Given the description of an element on the screen output the (x, y) to click on. 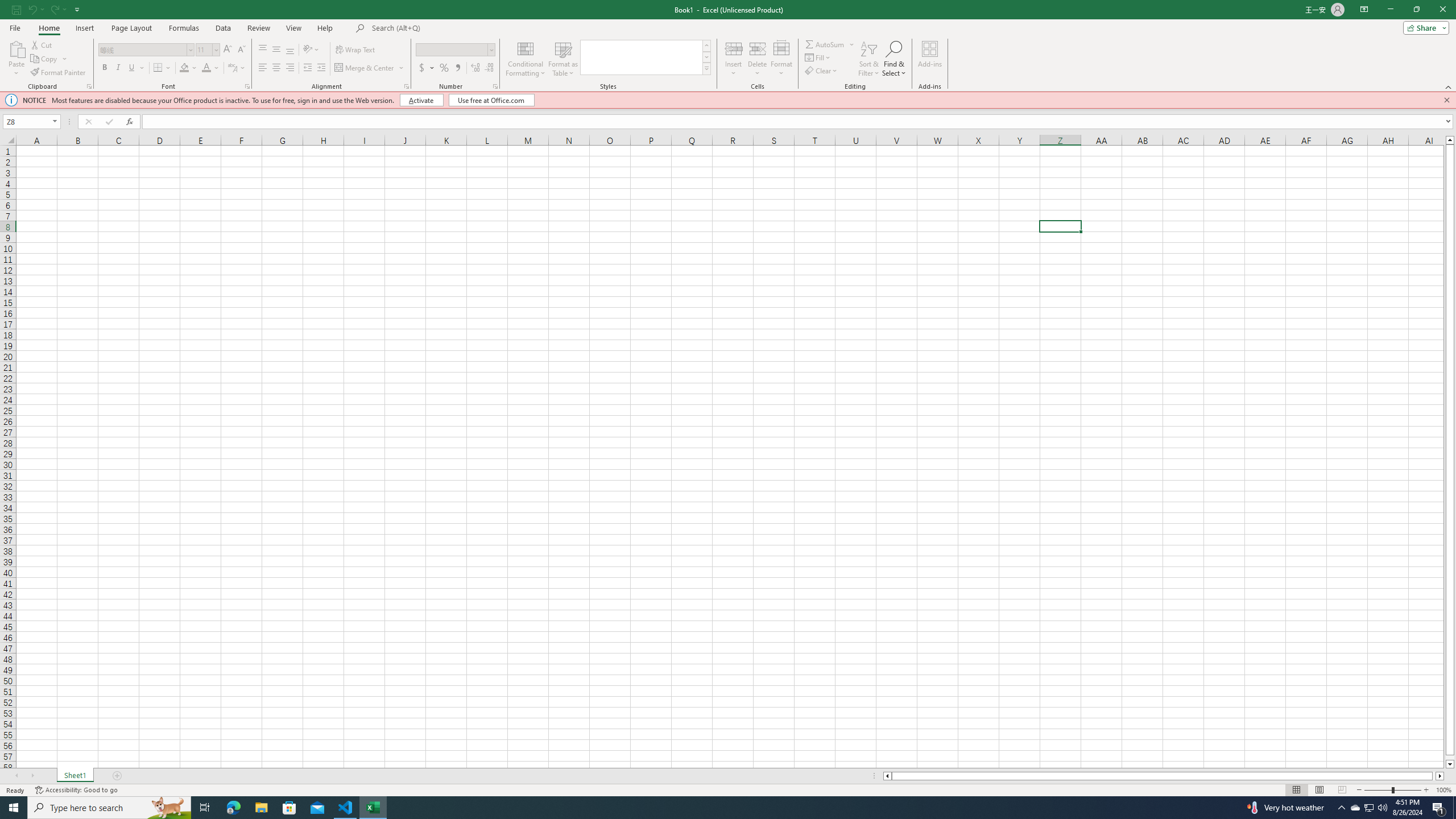
Show Phonetic Field (236, 67)
Underline (131, 67)
Top Align (262, 49)
Italic (118, 67)
Font Size (207, 49)
Sort & Filter (868, 58)
Conditional Formatting (525, 58)
Underline (136, 67)
Align Right (290, 67)
